Given the description of an element on the screen output the (x, y) to click on. 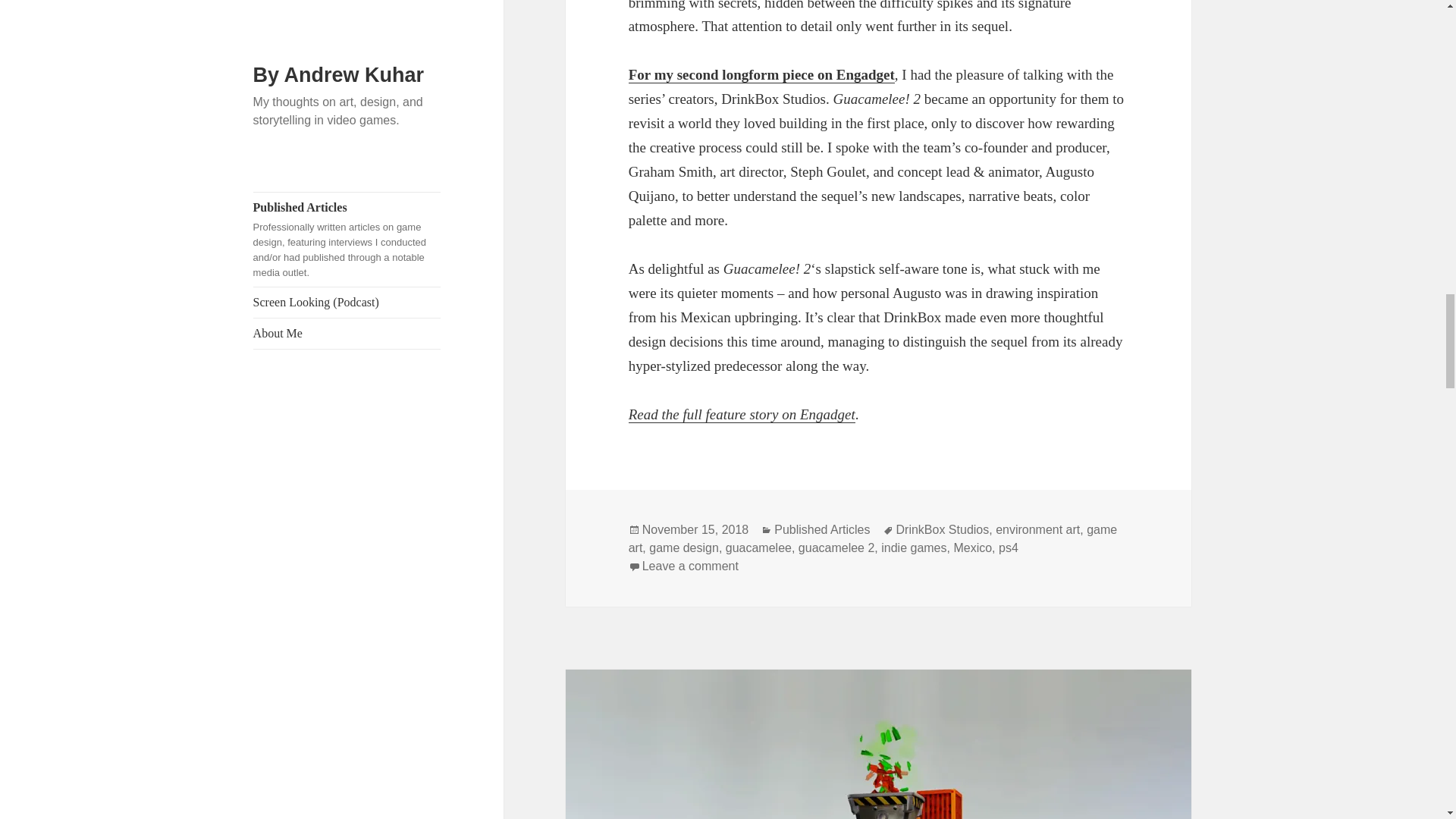
guacamelee 2 (836, 548)
indie games (913, 548)
For my second longform piece on Engadget (761, 74)
DrinkBox Studios (943, 530)
environment art (1037, 530)
game art (873, 539)
Mexico (972, 548)
ps4 (1007, 548)
Published Articles (821, 530)
guacamelee (758, 548)
